Given the description of an element on the screen output the (x, y) to click on. 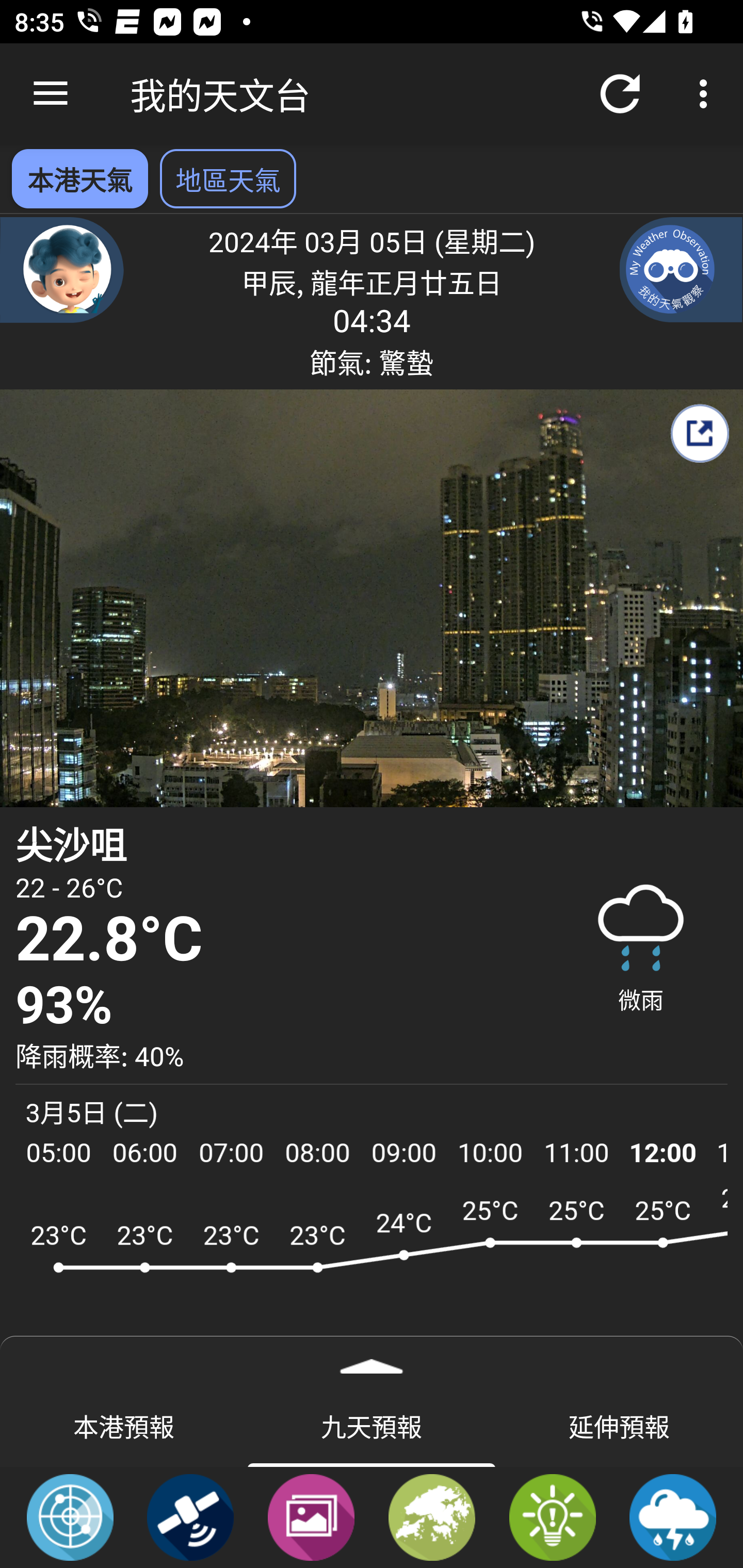
向上瀏覽 (50, 93)
重新整理 (619, 93)
更多選項 (706, 93)
本港天氣 已選擇 本港天氣 (79, 178)
地區天氣 選擇 地區天氣 (227, 178)
聊天機械人 (62, 269)
我的天氣觀察 (680, 269)
分享我的天氣報告 (699, 433)
22.8°C 氣溫22.8攝氏度 (276, 939)
93% 相對濕度百分之93 (276, 1005)
九天自動天氣預報 圖片
輕按進入內頁，即可了解詳細資料。 ARWF (371, 1275)
展開 (371, 1358)
本港預報 本港預報 九天預報 九天預報 延伸預報 延伸預報 (371, 1424)
本港預報 (123, 1424)
延伸預報 (619, 1424)
雷達圖像 (69, 1516)
衛星圖像 (190, 1516)
天氣照片 (310, 1516)
分區天氣 (431, 1516)
天氣提示 (551, 1516)
定點降雨及閃電預報 (672, 1516)
